Given the description of an element on the screen output the (x, y) to click on. 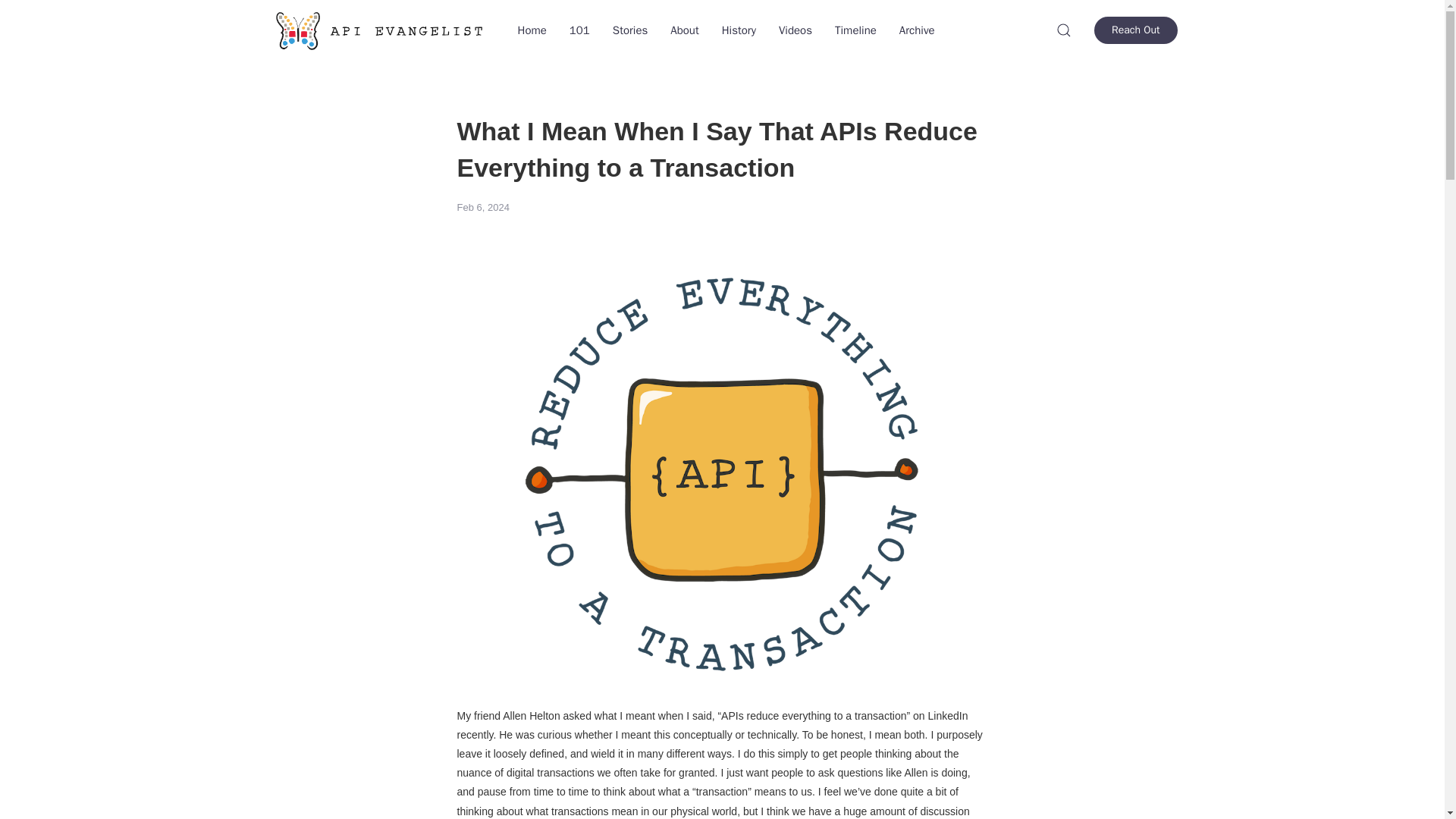
Reach Out (1135, 30)
History (738, 30)
Archive (917, 30)
Stories (630, 30)
Timeline (856, 30)
Videos (795, 30)
